Given the description of an element on the screen output the (x, y) to click on. 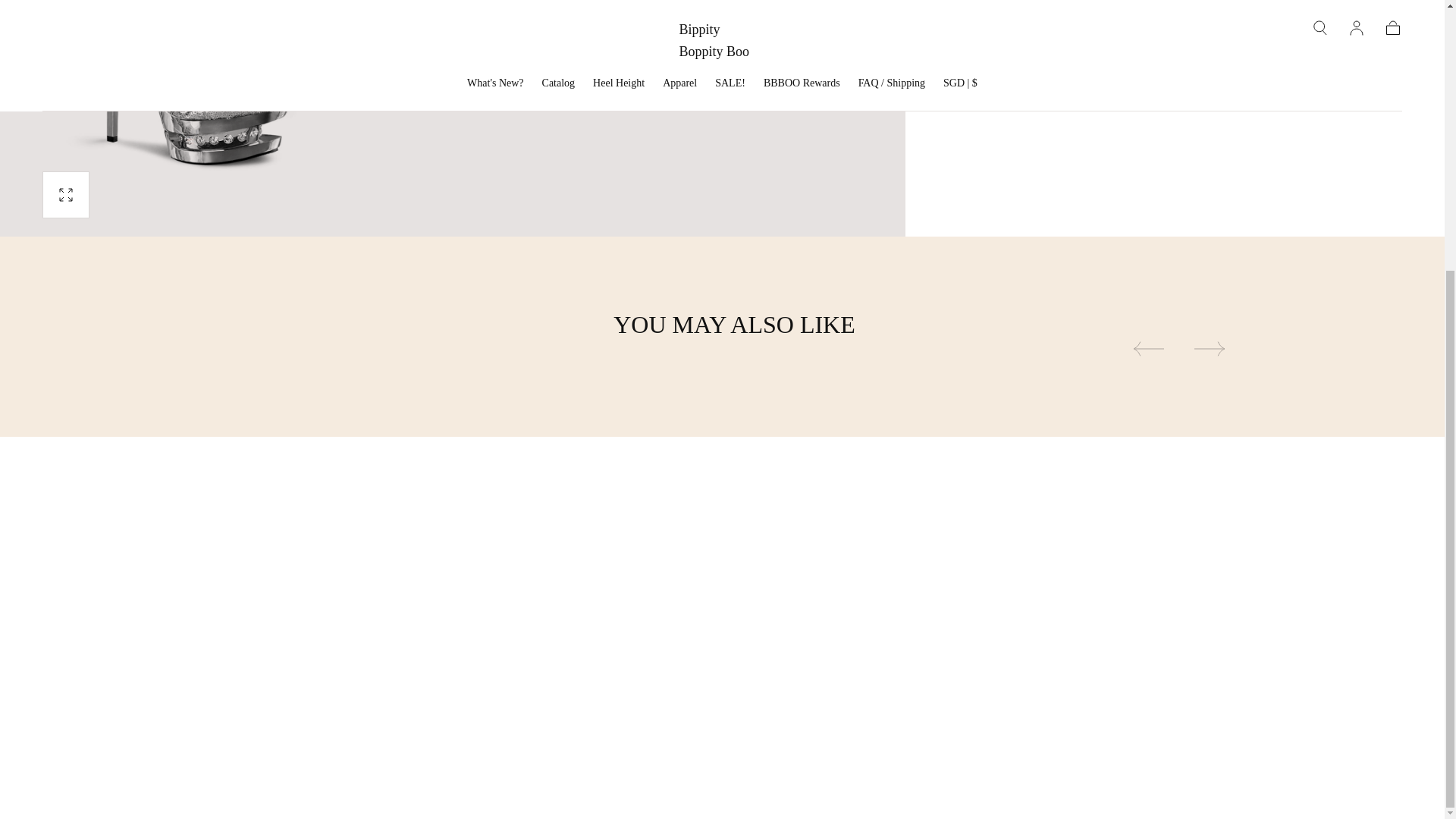
1 (978, 0)
